Given the description of an element on the screen output the (x, y) to click on. 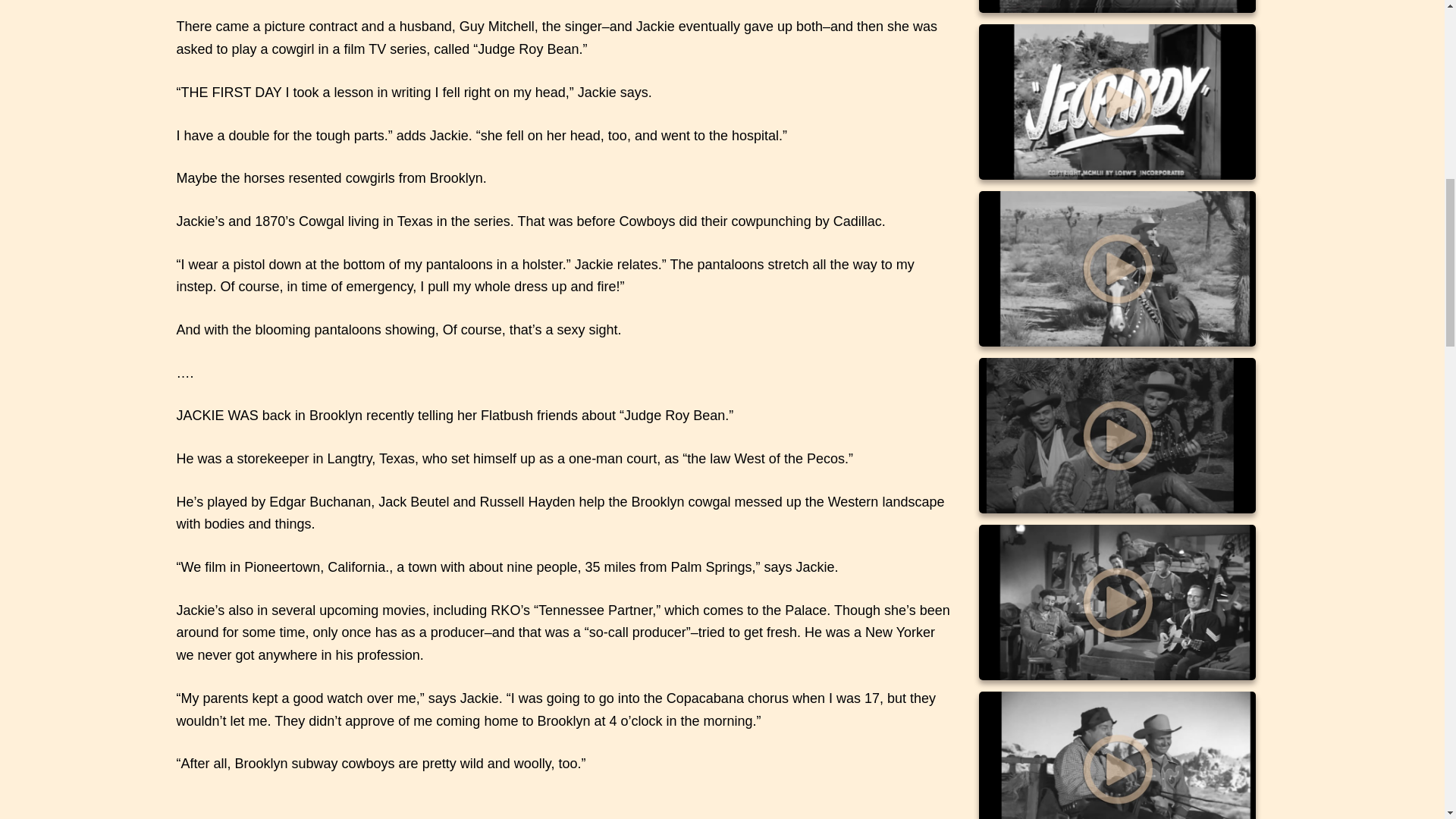
Silver Canyon (1116, 6)
Jeopardy (1116, 101)
Barbed Wire (1116, 435)
Last of the Pony Riders (1116, 268)
